Given the description of an element on the screen output the (x, y) to click on. 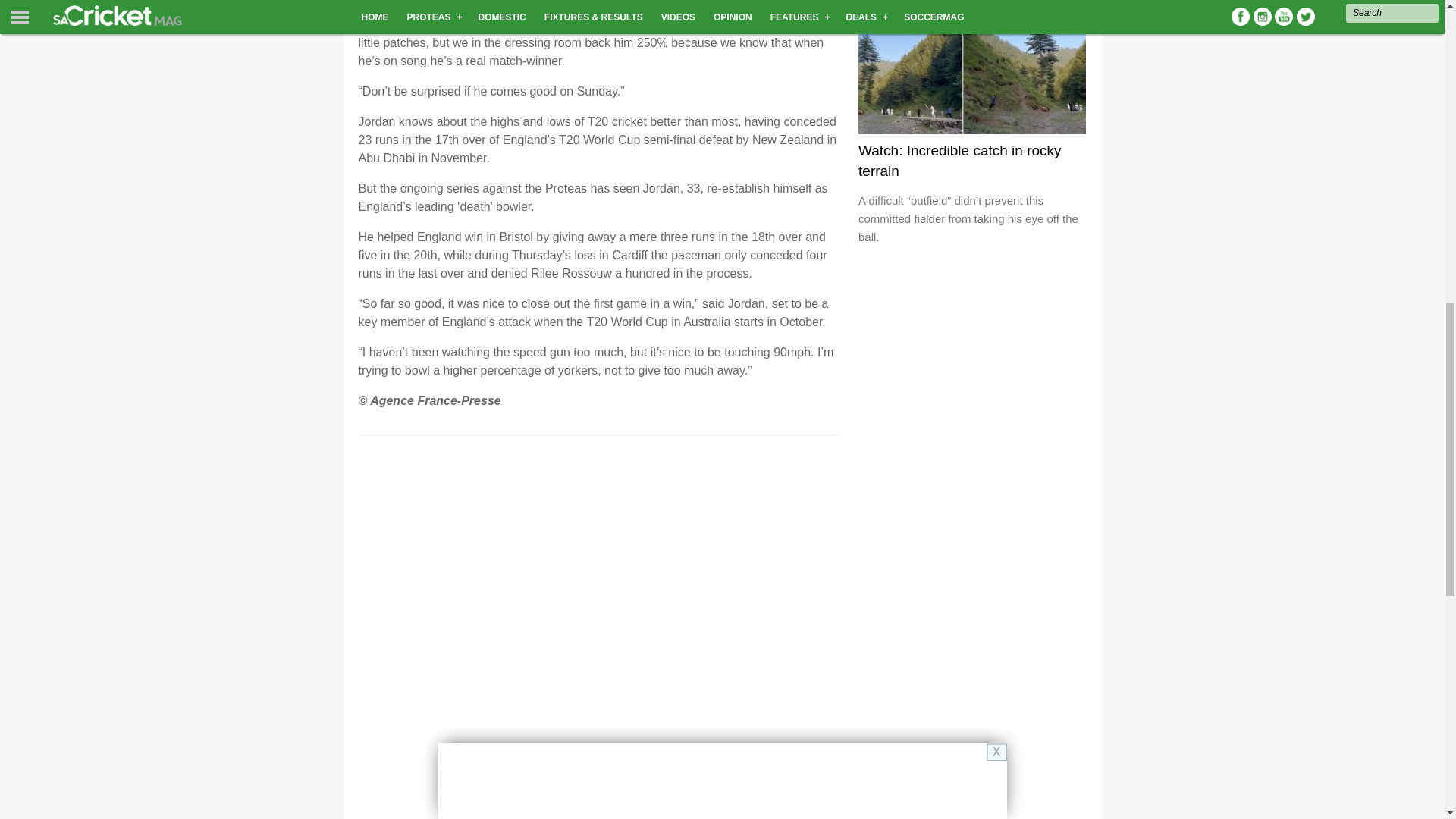
3rd party ad content (972, 352)
